Given the description of an element on the screen output the (x, y) to click on. 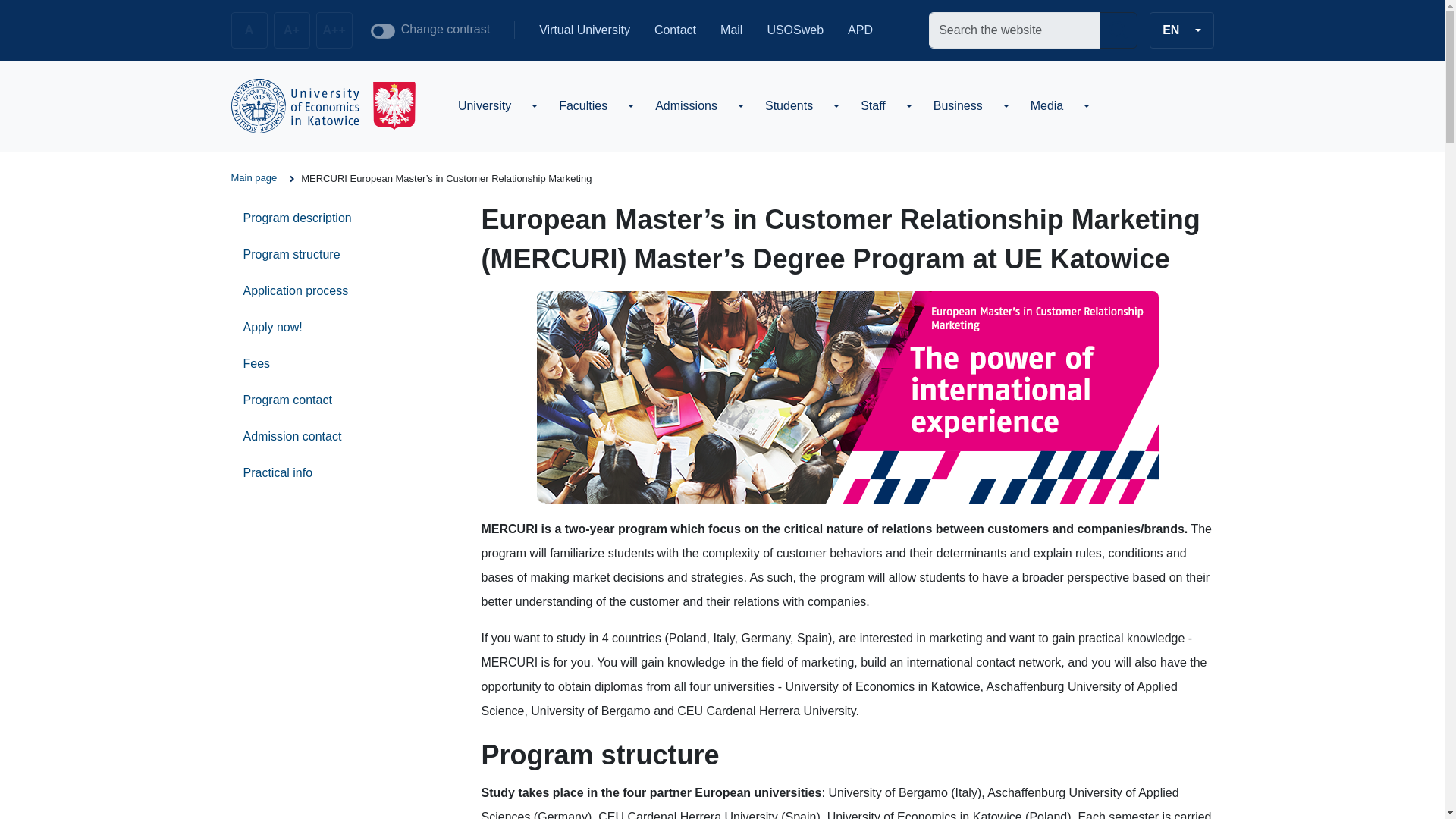
EN (1181, 30)
University (483, 105)
Mail (731, 29)
MERCURI  (847, 397)
Virtual University (584, 29)
on (382, 30)
APD (859, 29)
Contact (674, 29)
Home page (322, 105)
USOSweb (795, 29)
